Given the description of an element on the screen output the (x, y) to click on. 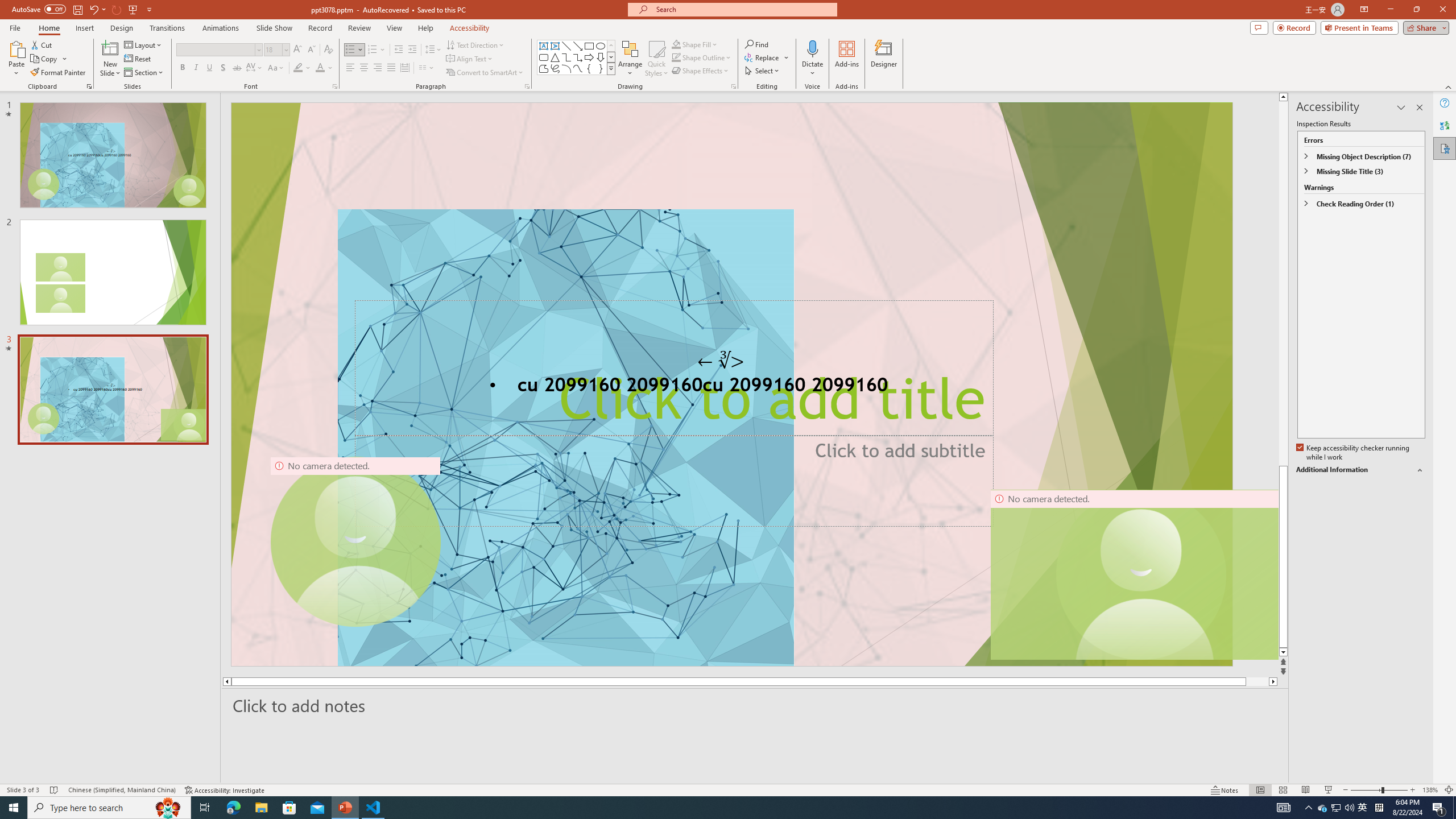
Shape Outline Green, Accent 1 (675, 56)
TextBox 61 (730, 386)
